Given the description of an element on the screen output the (x, y) to click on. 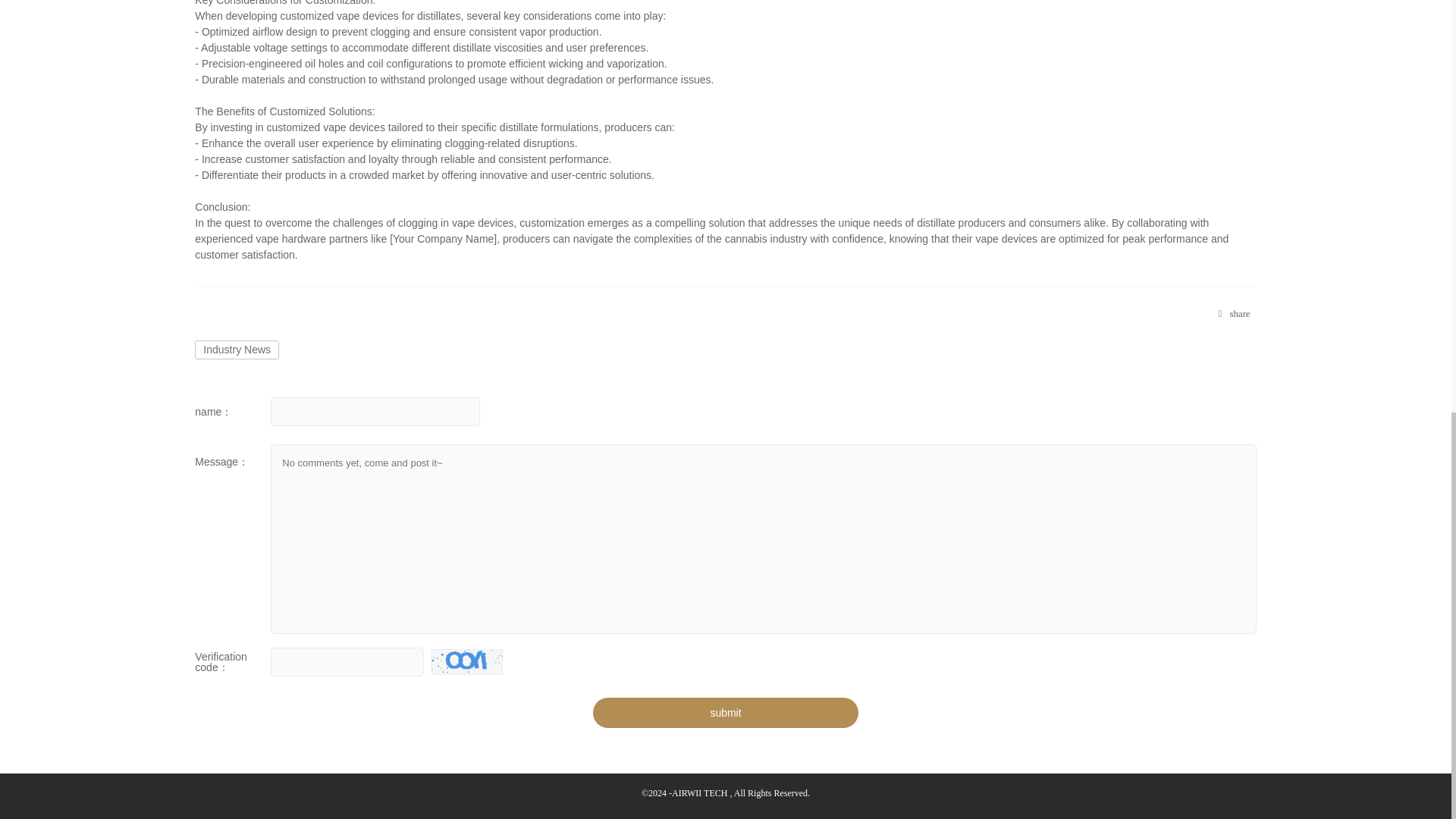
Change the Captcha. (466, 661)
Industry News (237, 349)
